Given the description of an element on the screen output the (x, y) to click on. 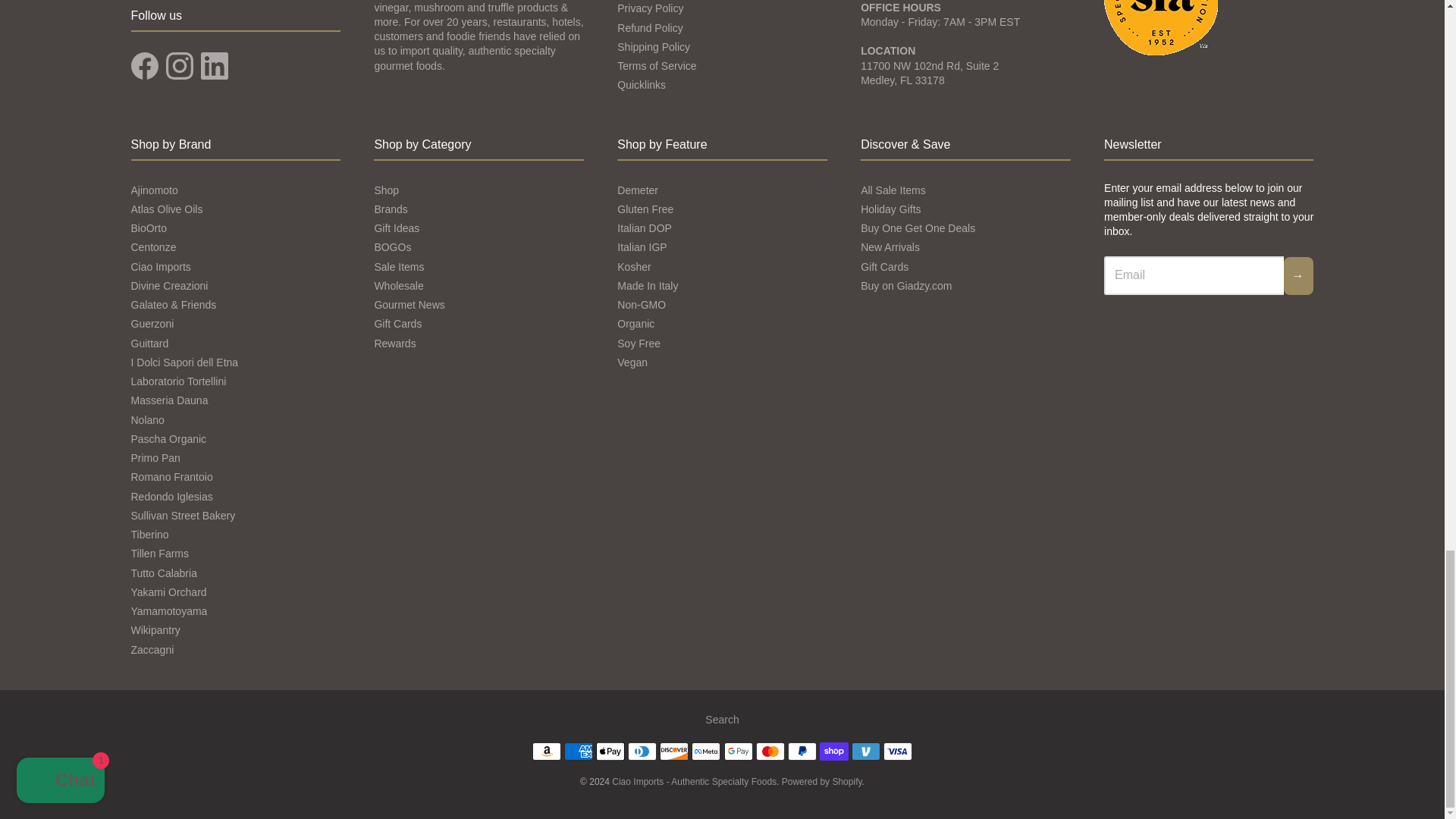
Facebook (144, 65)
Mastercard (769, 751)
Meta Pay (705, 751)
Diners Club (641, 751)
Shop Pay (833, 751)
Amazon (546, 751)
Instagram (178, 65)
Visa (897, 751)
Discover (673, 751)
American Express (578, 751)
Venmo (865, 751)
Google Pay (737, 751)
LinkedIn (213, 65)
Apple Pay (609, 751)
PayPal (801, 751)
